Given the description of an element on the screen output the (x, y) to click on. 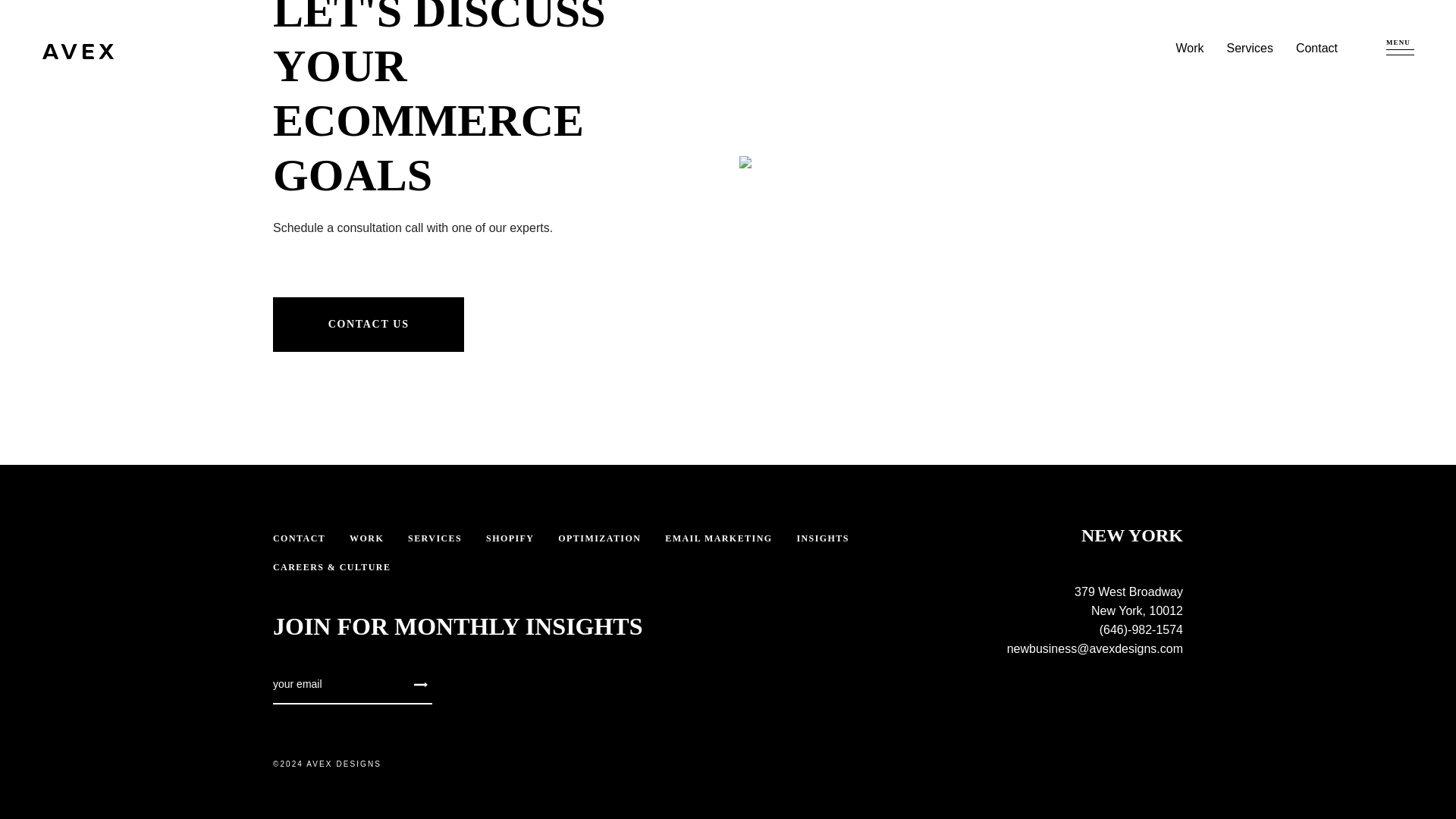
SERVICES (434, 538)
WORK (366, 538)
INSIGHTS (822, 538)
CONTACT (298, 538)
EMAIL MARKETING (718, 538)
SHOPIFY (510, 538)
New York, 10012 (1136, 611)
379 West Broadway (1128, 591)
CONTACT US (368, 324)
OPTIMIZATION (598, 538)
